Given the description of an element on the screen output the (x, y) to click on. 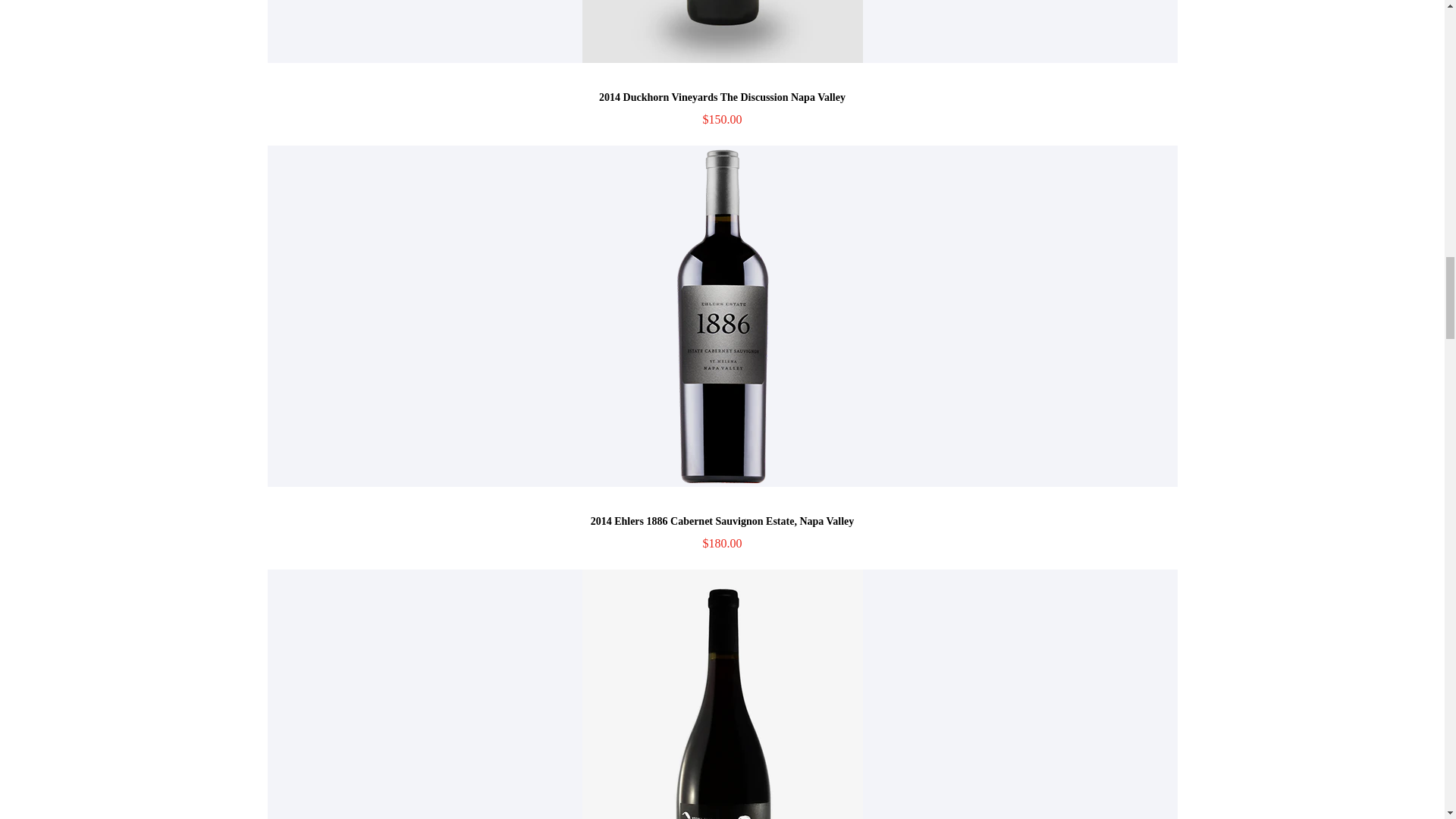
2014 Duckhorn Vineyards The Discussion Napa Valley (721, 97)
